Given the description of an element on the screen output the (x, y) to click on. 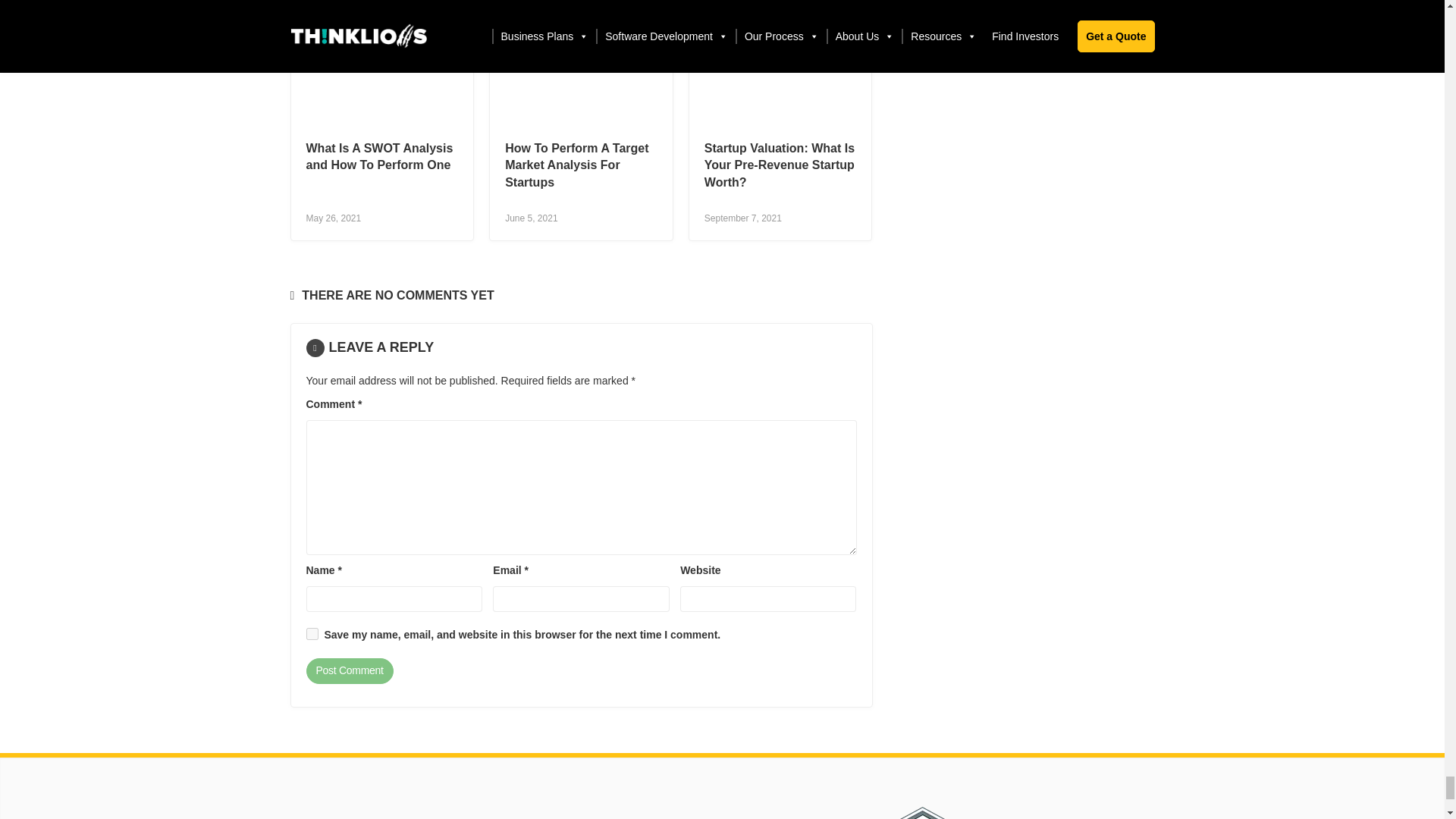
Post Comment (349, 670)
yes (311, 633)
